Given the description of an element on the screen output the (x, y) to click on. 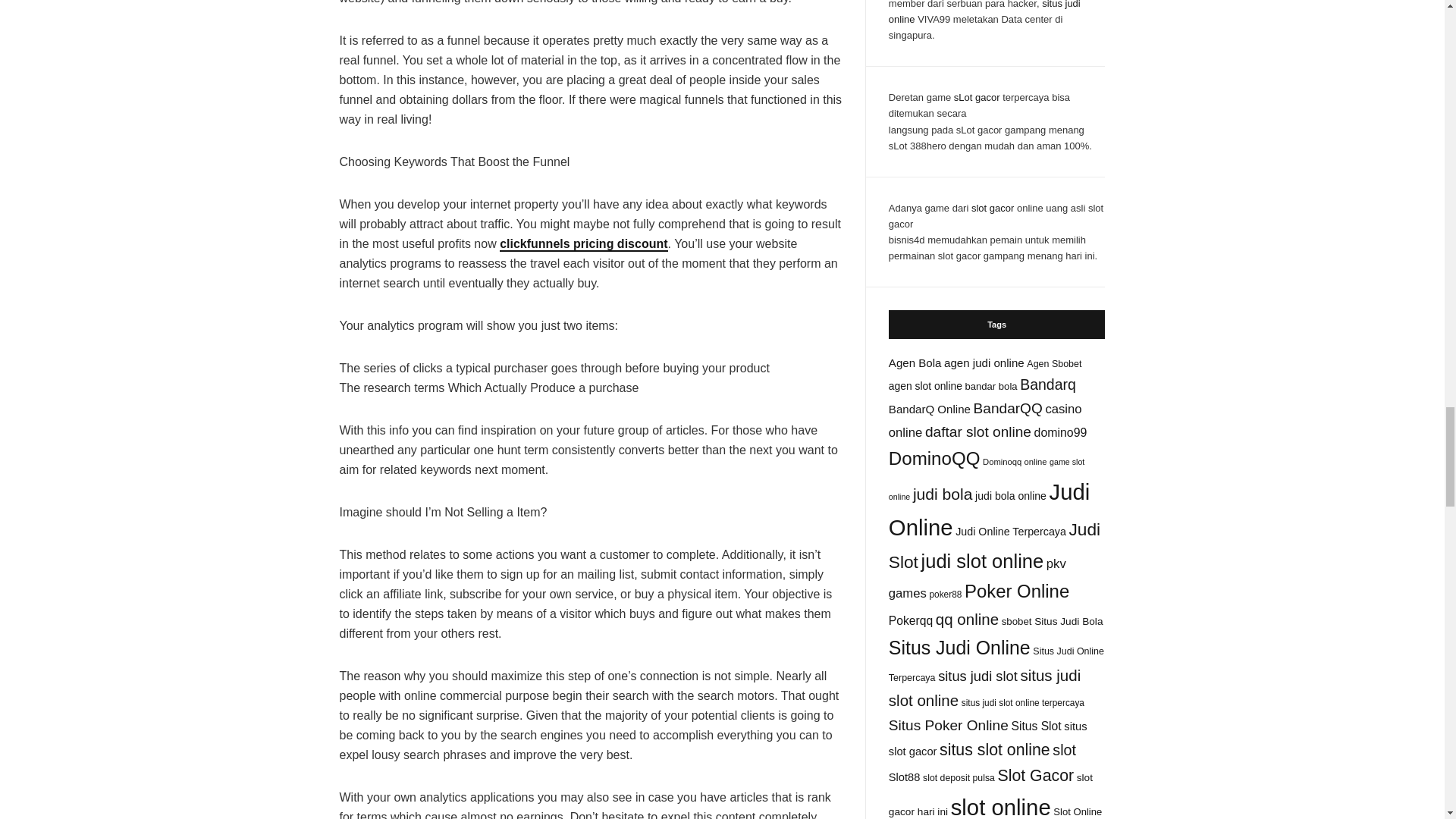
clickfunnels pricing discount (582, 244)
